Given the description of an element on the screen output the (x, y) to click on. 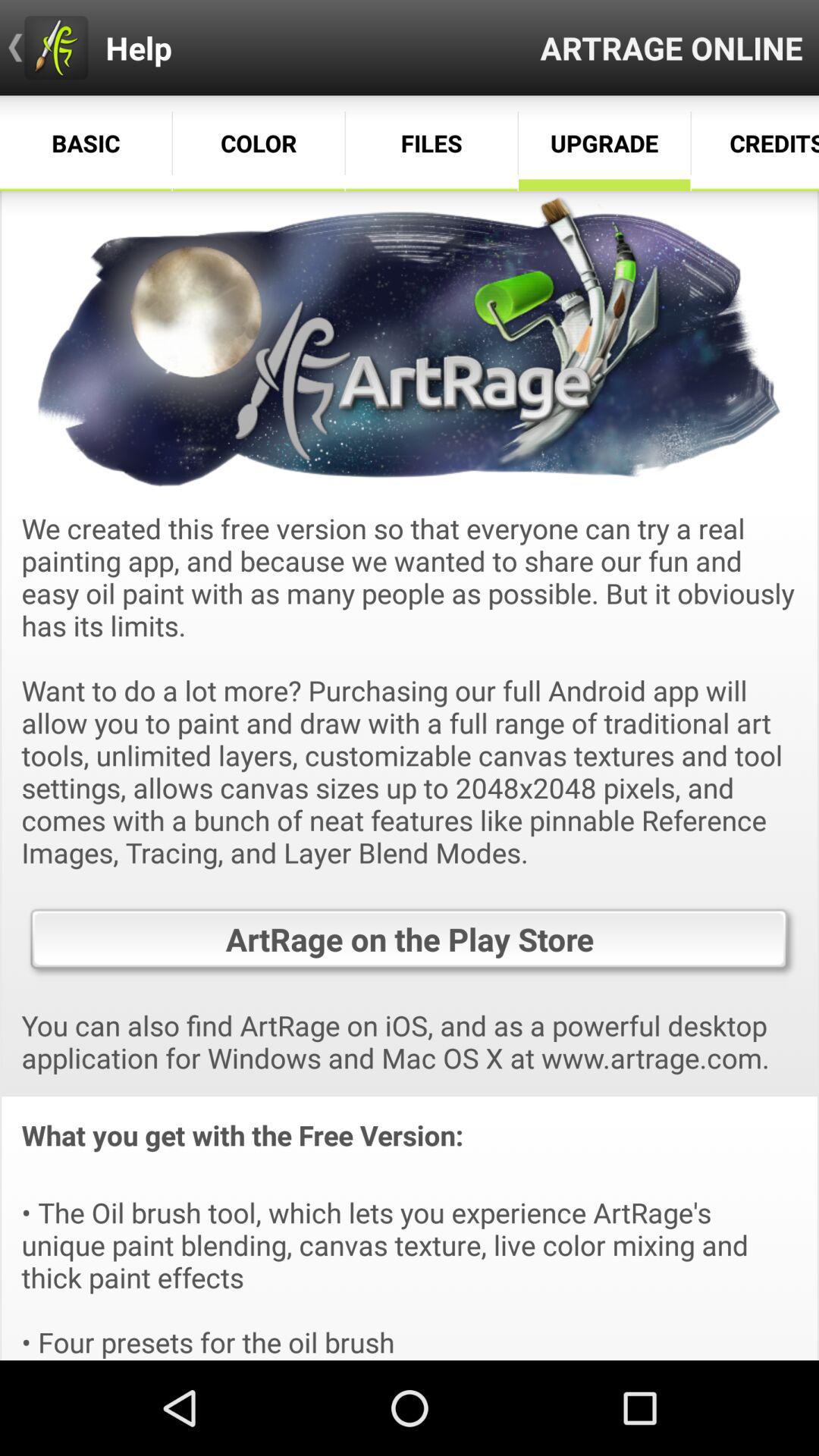
jump to artrage online (671, 47)
